Given the description of an element on the screen output the (x, y) to click on. 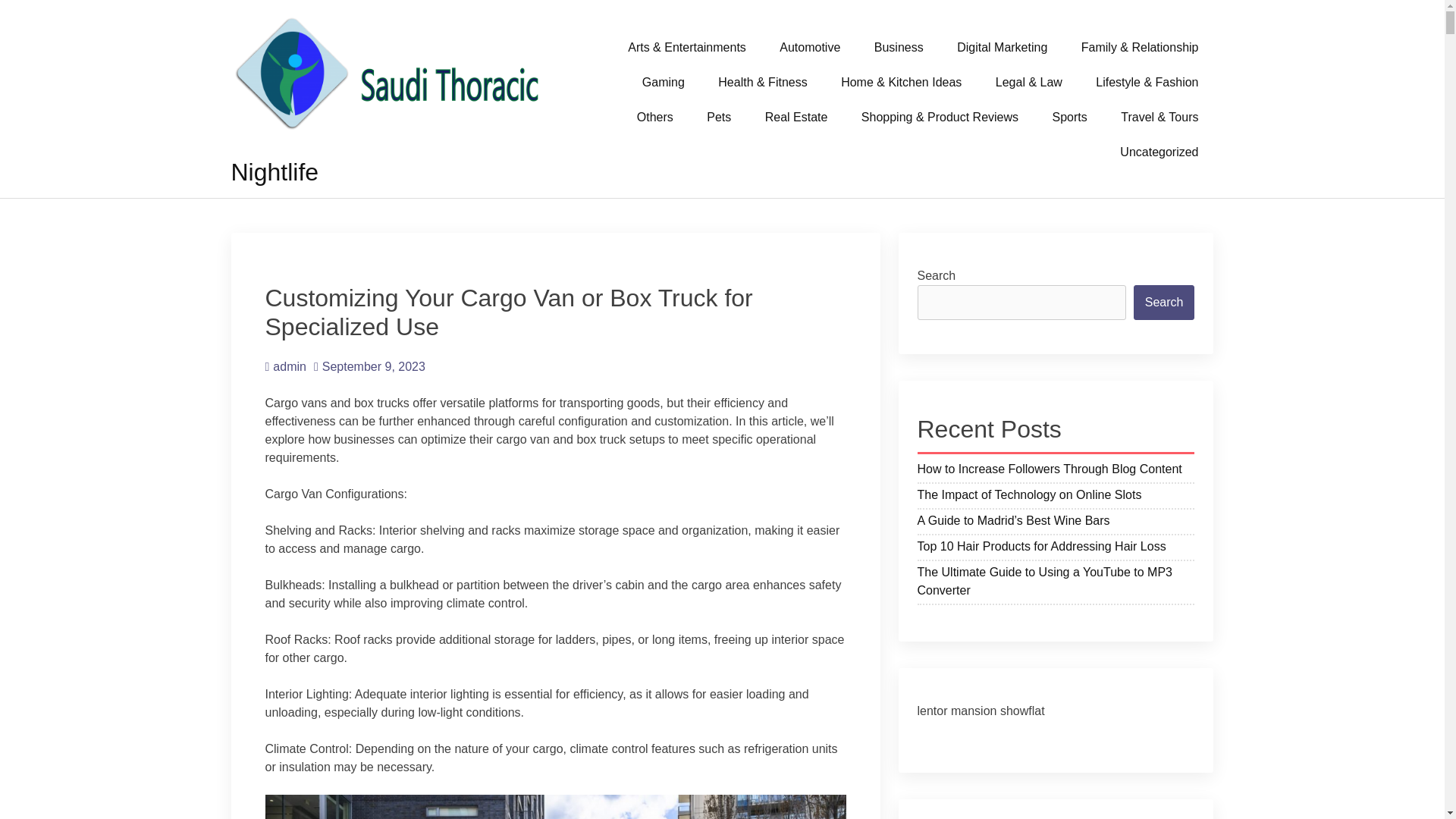
Nightlife (274, 171)
Automotive (810, 46)
Others (654, 116)
The Impact of Technology on Online Slots (1056, 496)
Sports (1069, 116)
Top 10 Hair Products for Addressing Hair Loss (1056, 548)
admin (284, 366)
The Ultimate Guide to Using a YouTube to MP3 Converter (1056, 583)
How to Increase Followers Through Blog Content (1056, 471)
Search (1164, 302)
Pets (718, 116)
Digital Marketing (1002, 46)
Real Estate (796, 116)
Gaming (663, 81)
Business (899, 46)
